Given the description of an element on the screen output the (x, y) to click on. 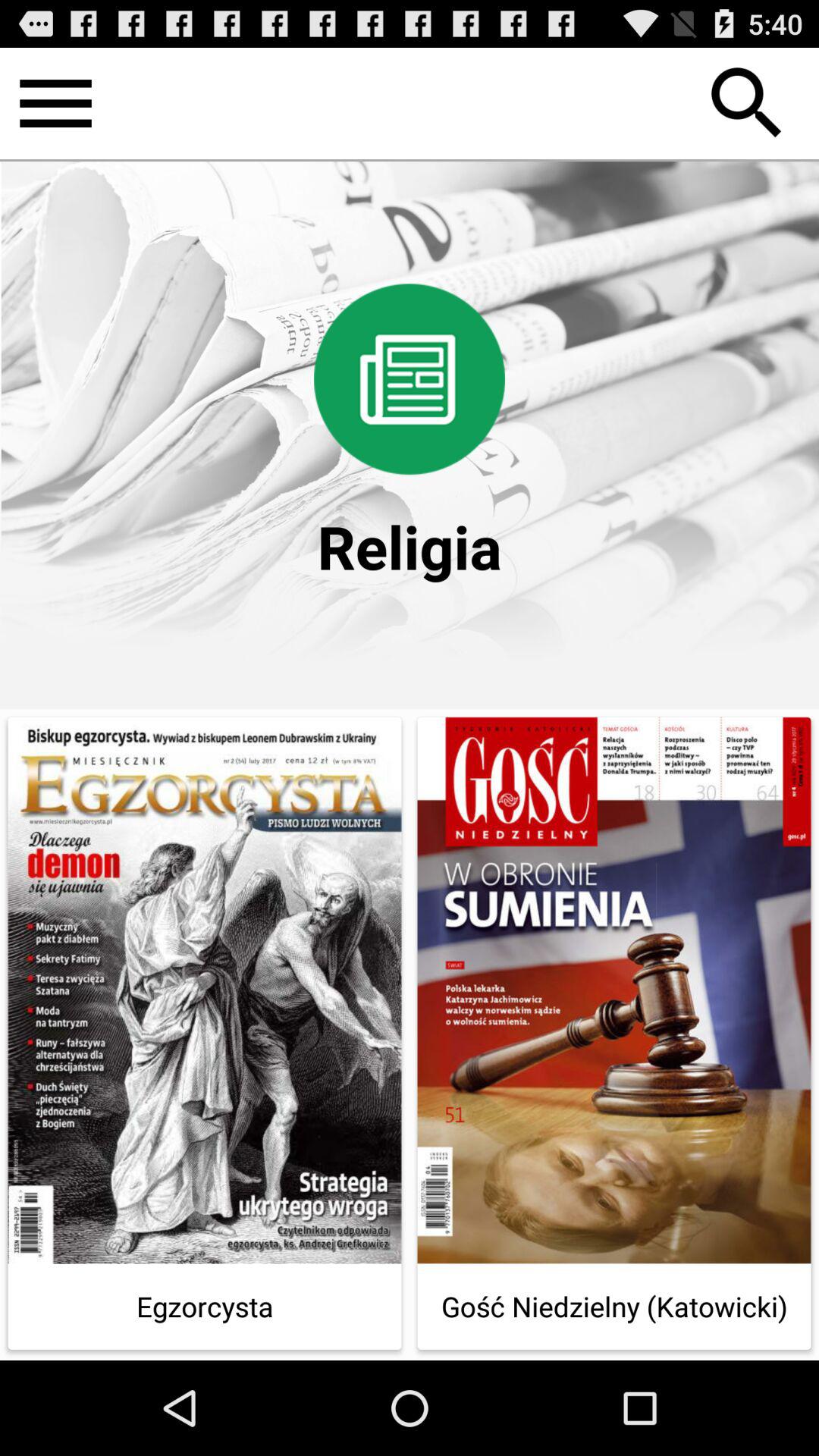
click on the second image below religia (614, 1033)
select the second image to the bottom right corner of the page (614, 990)
